Given the description of an element on the screen output the (x, y) to click on. 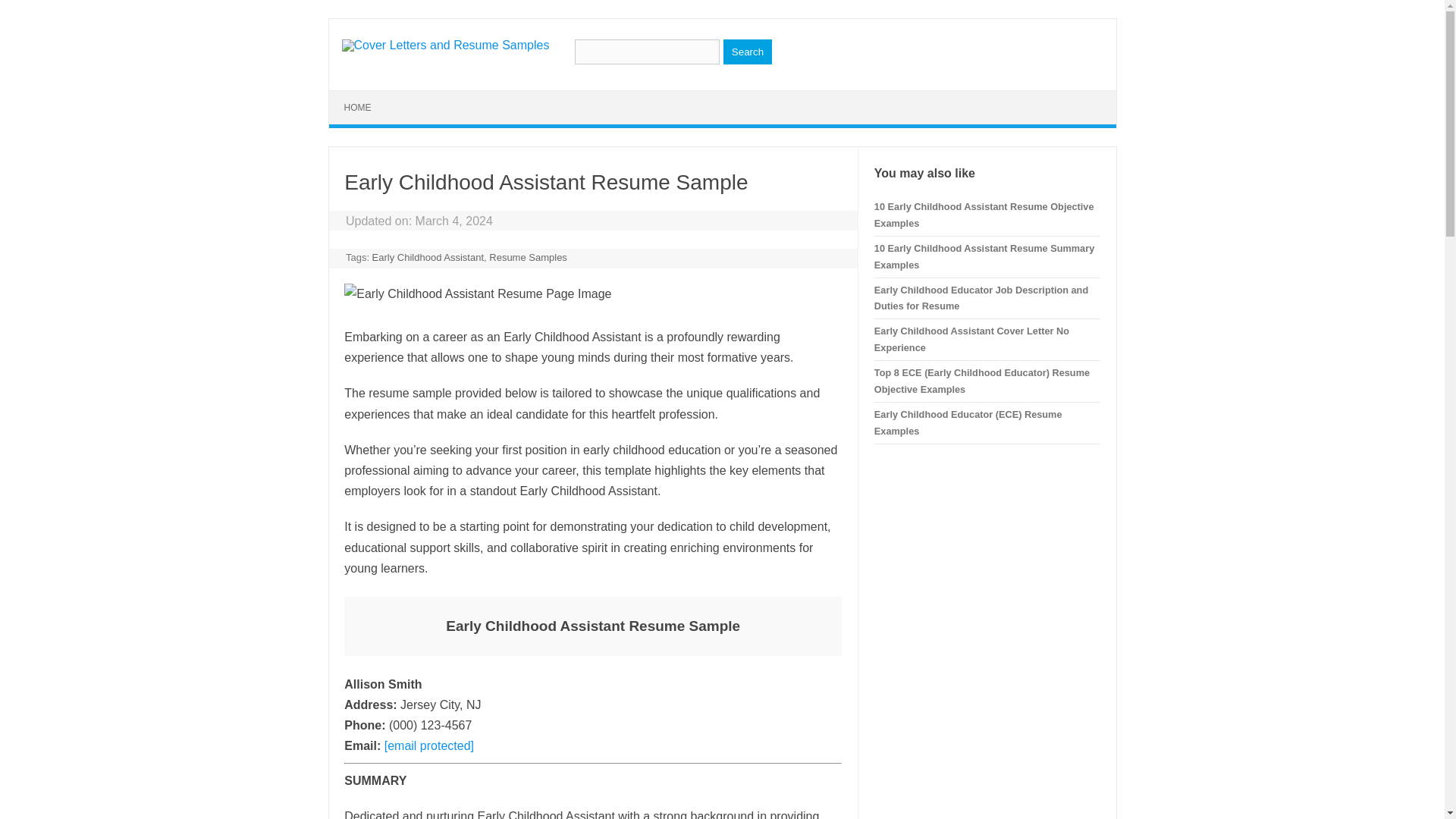
HOME (358, 107)
Early Childhood Assistant Cover Letter No Experience (971, 338)
10 Early Childhood Assistant Resume Objective Examples (984, 214)
Search (747, 51)
Early Childhood Assistant (427, 256)
10 Early Childhood Assistant Resume Summary Examples (984, 256)
Cover Letters and Resume Samples (444, 44)
Resume Samples (528, 256)
Search (747, 51)
